Given the description of an element on the screen output the (x, y) to click on. 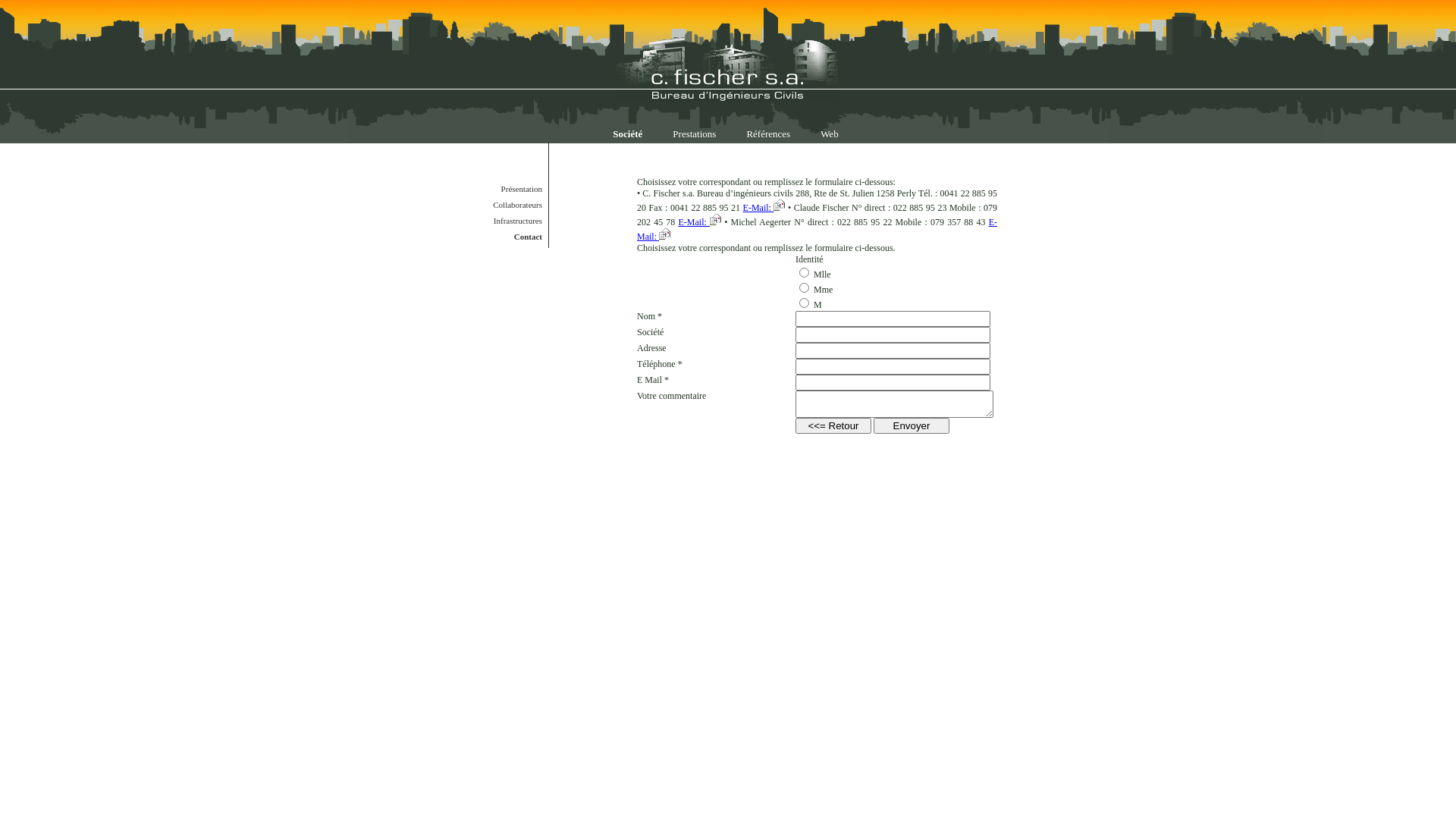
Infrastructures Element type: text (500, 220)
Collaborateurs Element type: text (500, 204)
E-Mail: Element type: text (764, 207)
E-Mail: Element type: text (817, 228)
<<= Retour Element type: text (833, 425)
Prestations Element type: text (694, 133)
Web Element type: text (829, 133)
E-Mail: Element type: text (699, 221)
Contact Element type: text (500, 236)
